Given the description of an element on the screen output the (x, y) to click on. 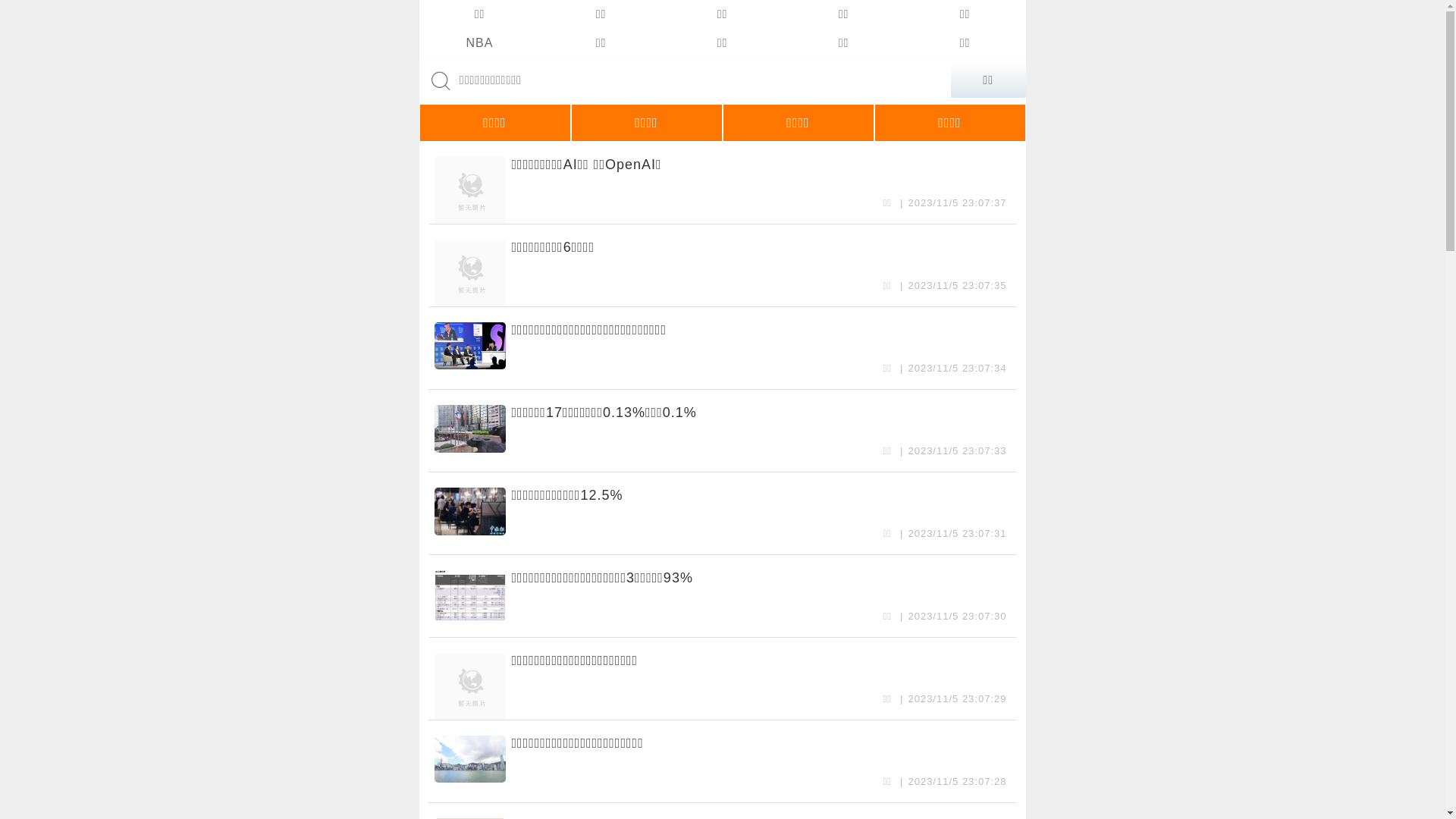
NBA Element type: text (478, 42)
